Given the description of an element on the screen output the (x, y) to click on. 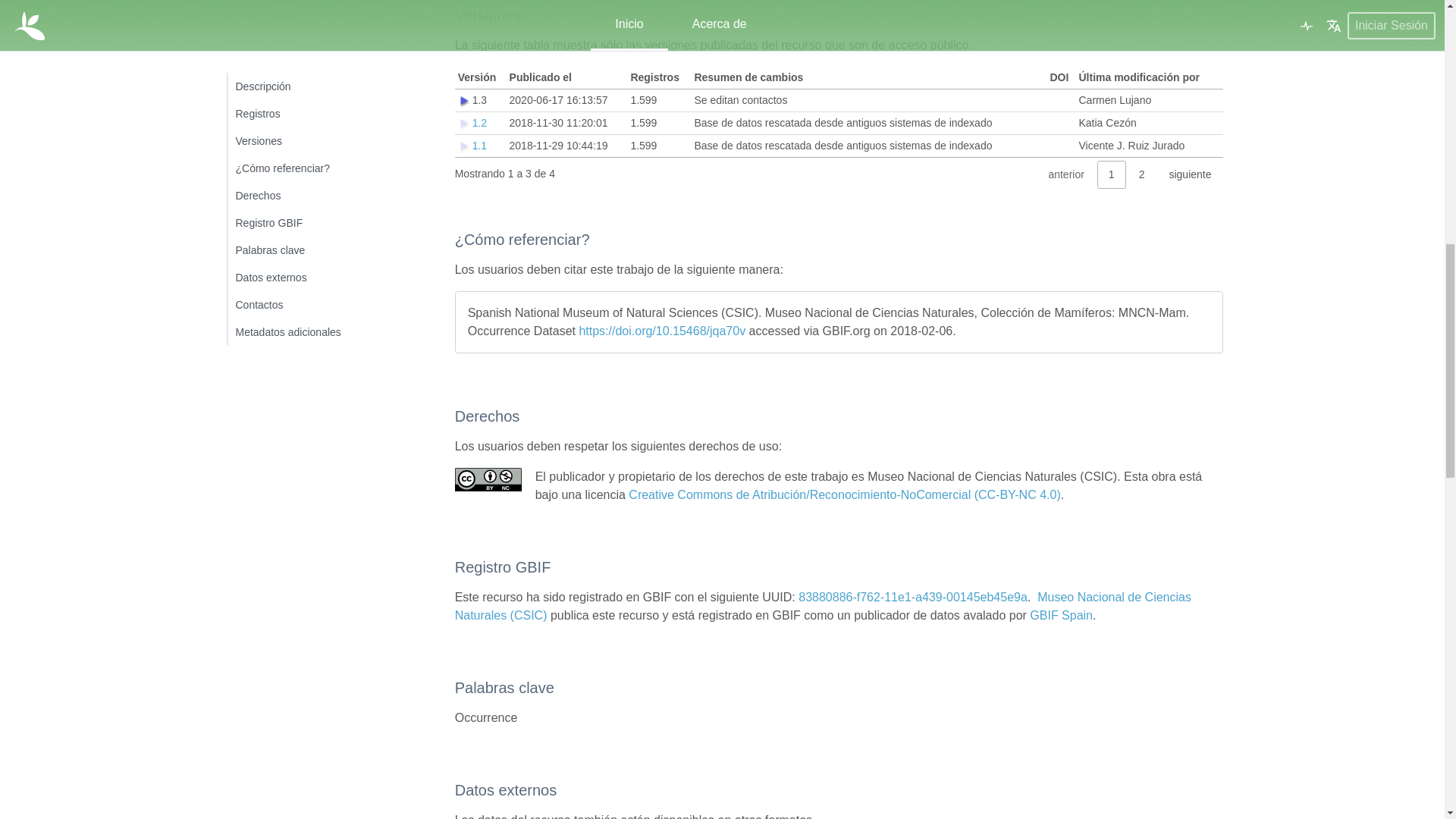
anterior (1065, 174)
1.1 (478, 145)
1 (1111, 174)
1.2 (478, 122)
